Given the description of an element on the screen output the (x, y) to click on. 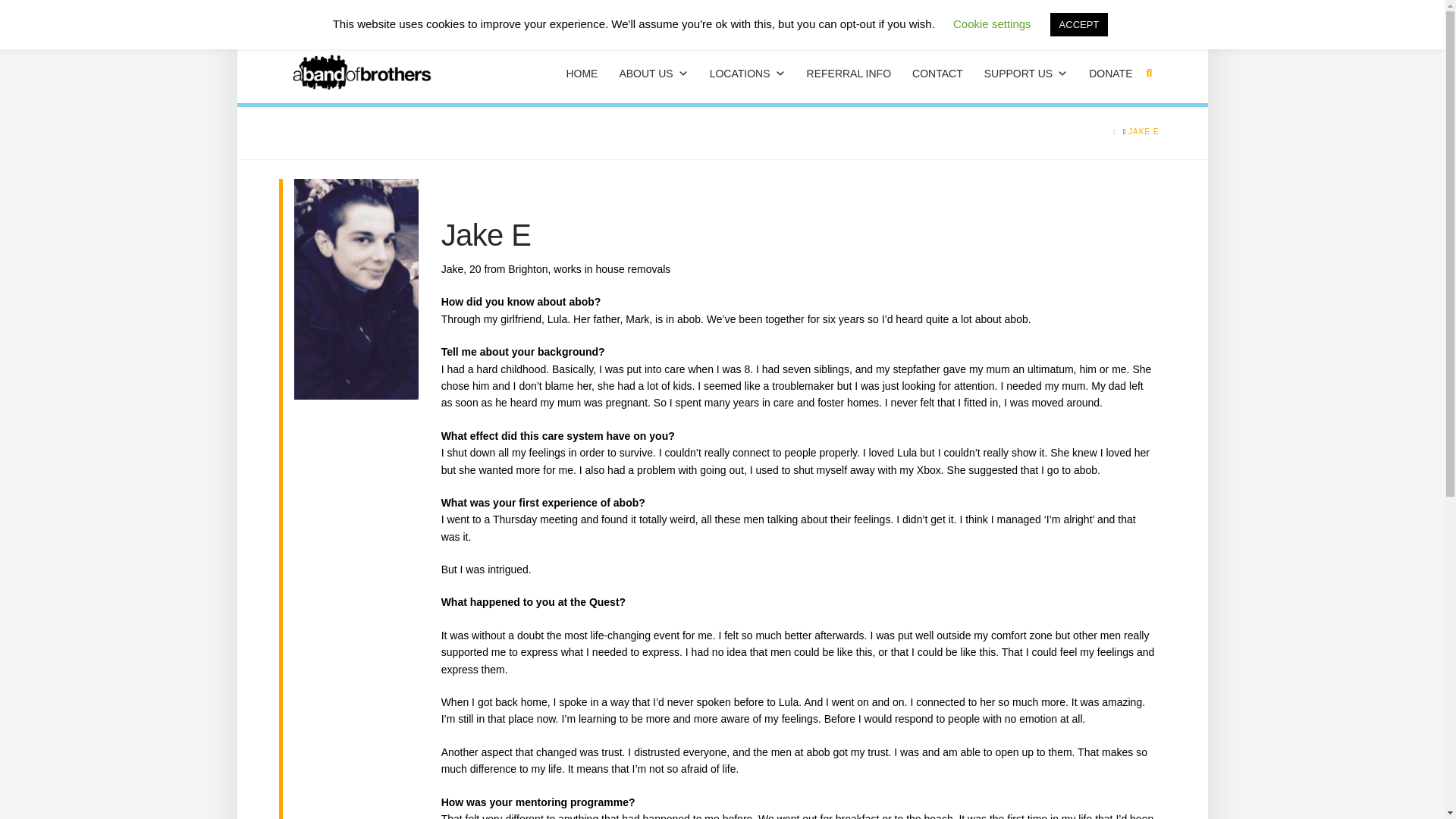
Sign Up for Our Newsletter (367, 17)
Facebook (1088, 16)
LOCATIONS (747, 73)
SUPPORT US (1025, 73)
Instagram (1146, 16)
ABOUT US (653, 73)
You Are Here (1143, 131)
CONTACT (937, 73)
REFERRAL INFO (849, 73)
HOME (581, 73)
